Given the description of an element on the screen output the (x, y) to click on. 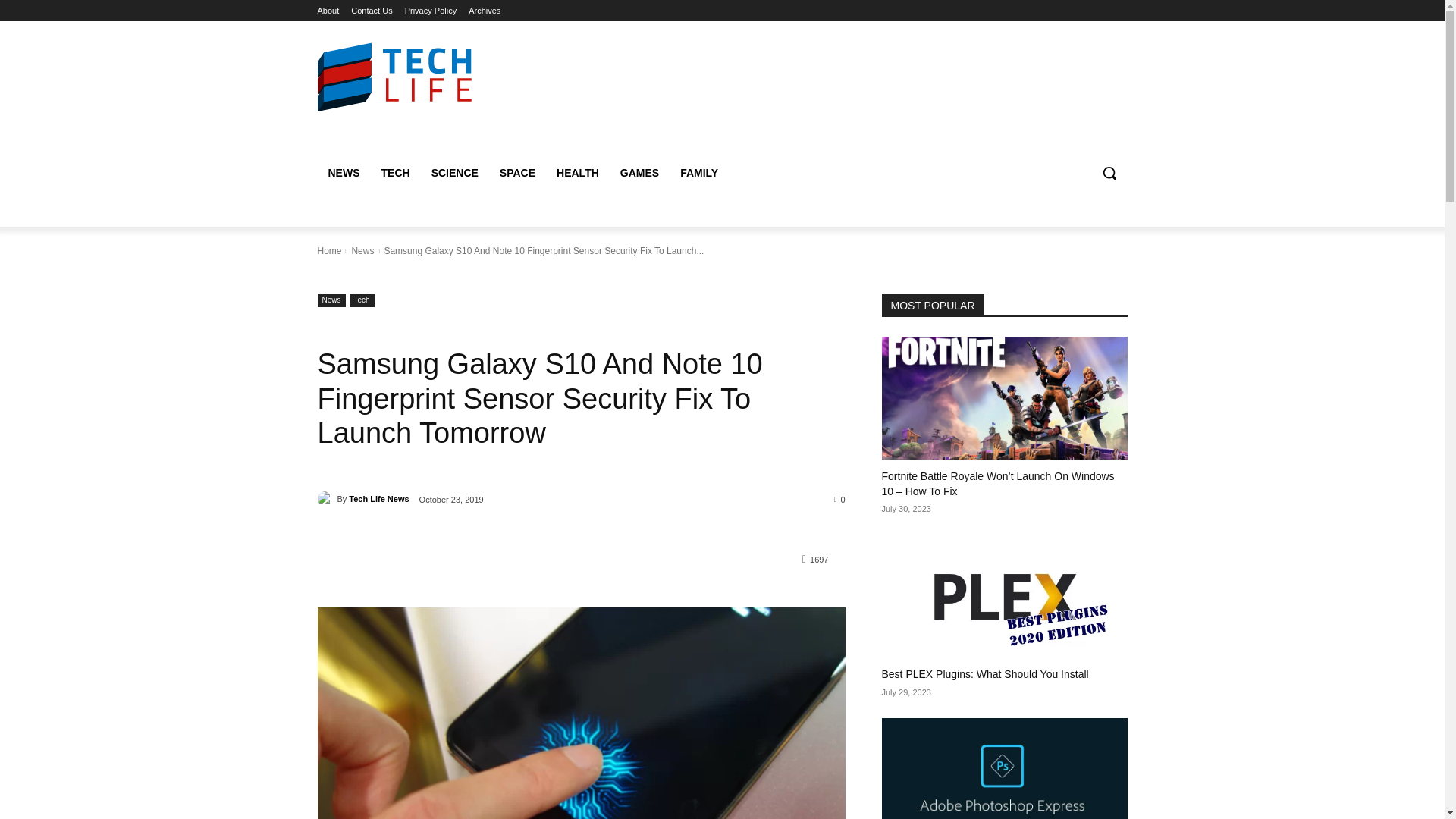
FAMILY (699, 172)
HEALTH (578, 172)
Tech Life News (326, 498)
About (328, 10)
News (362, 250)
News (331, 300)
0 (839, 498)
TECH (394, 172)
Contact Us (370, 10)
GAMES (639, 172)
SCIENCE (454, 172)
NEWS (343, 172)
Privacy Policy (430, 10)
View all posts in News (362, 250)
Tech Life News (379, 498)
